Given the description of an element on the screen output the (x, y) to click on. 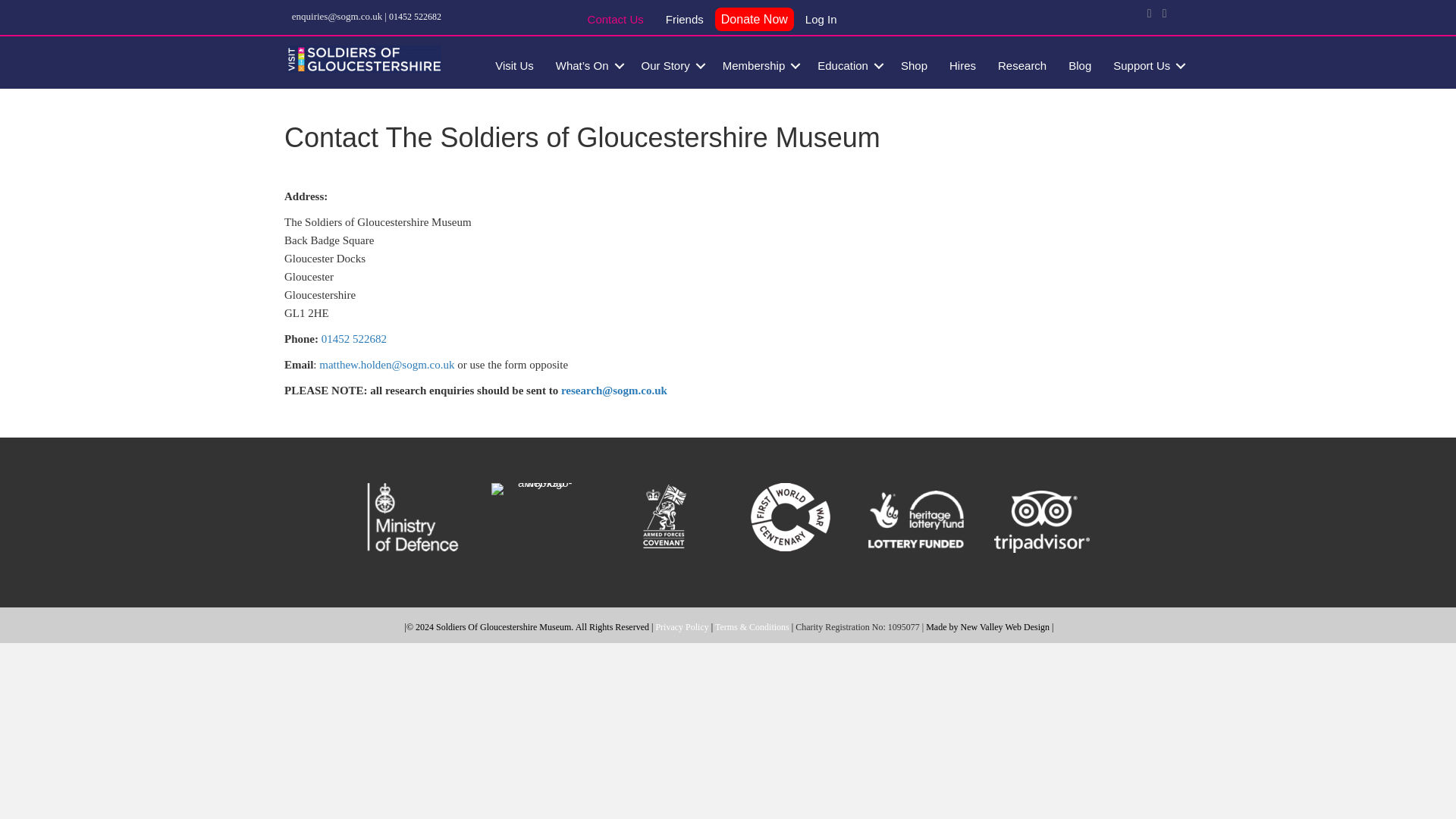
Friends (684, 21)
Contact Us (614, 21)
Visit Us (514, 65)
Donate Now (753, 19)
warfirstworld-webx90 (789, 517)
army-logo-webx90 (538, 517)
Log In (820, 21)
